Given the description of an element on the screen output the (x, y) to click on. 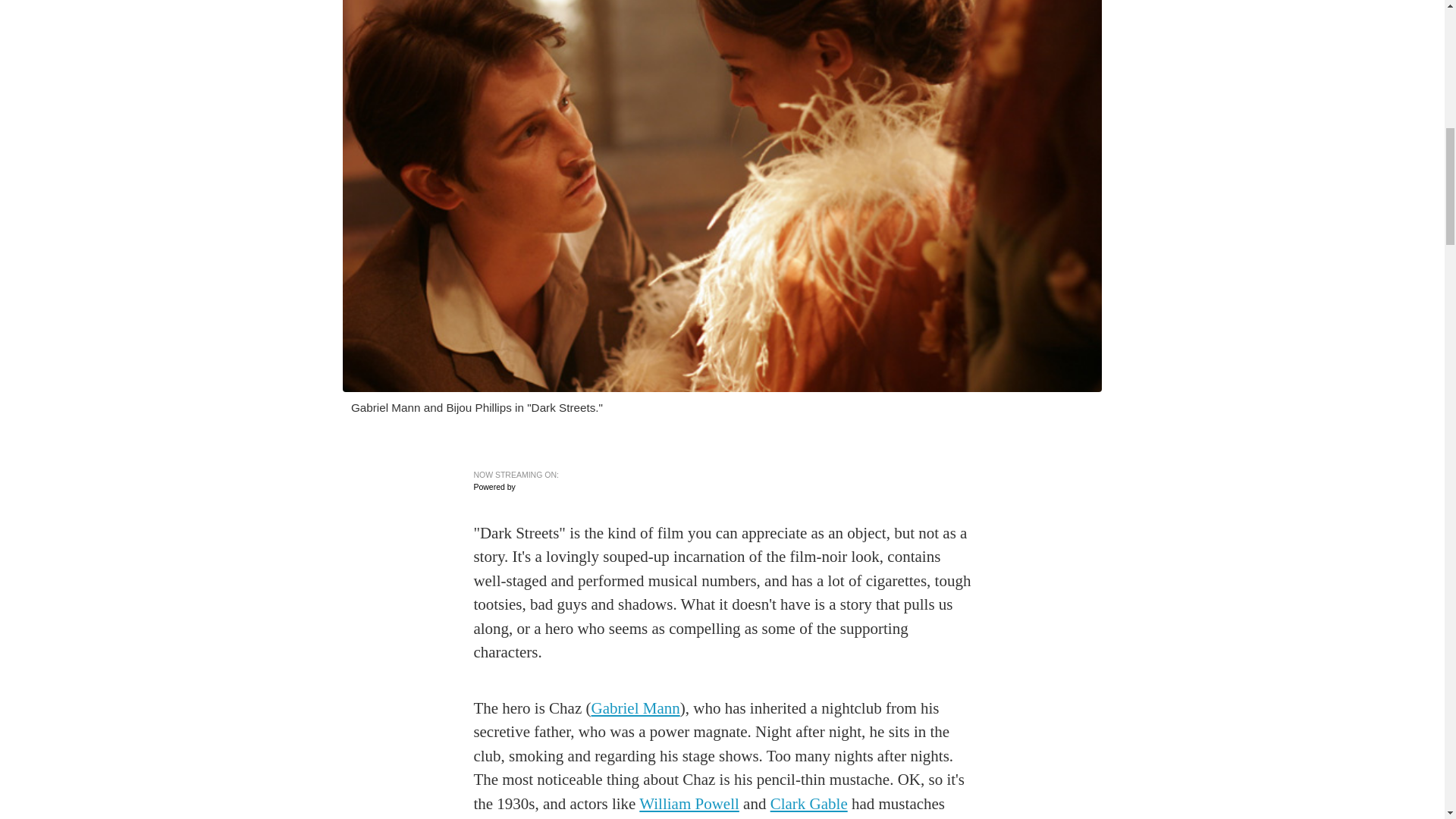
Clark Gable (808, 803)
Gabriel Mann (635, 708)
William Powell (689, 803)
Powered by JustWatch (520, 486)
